Given the description of an element on the screen output the (x, y) to click on. 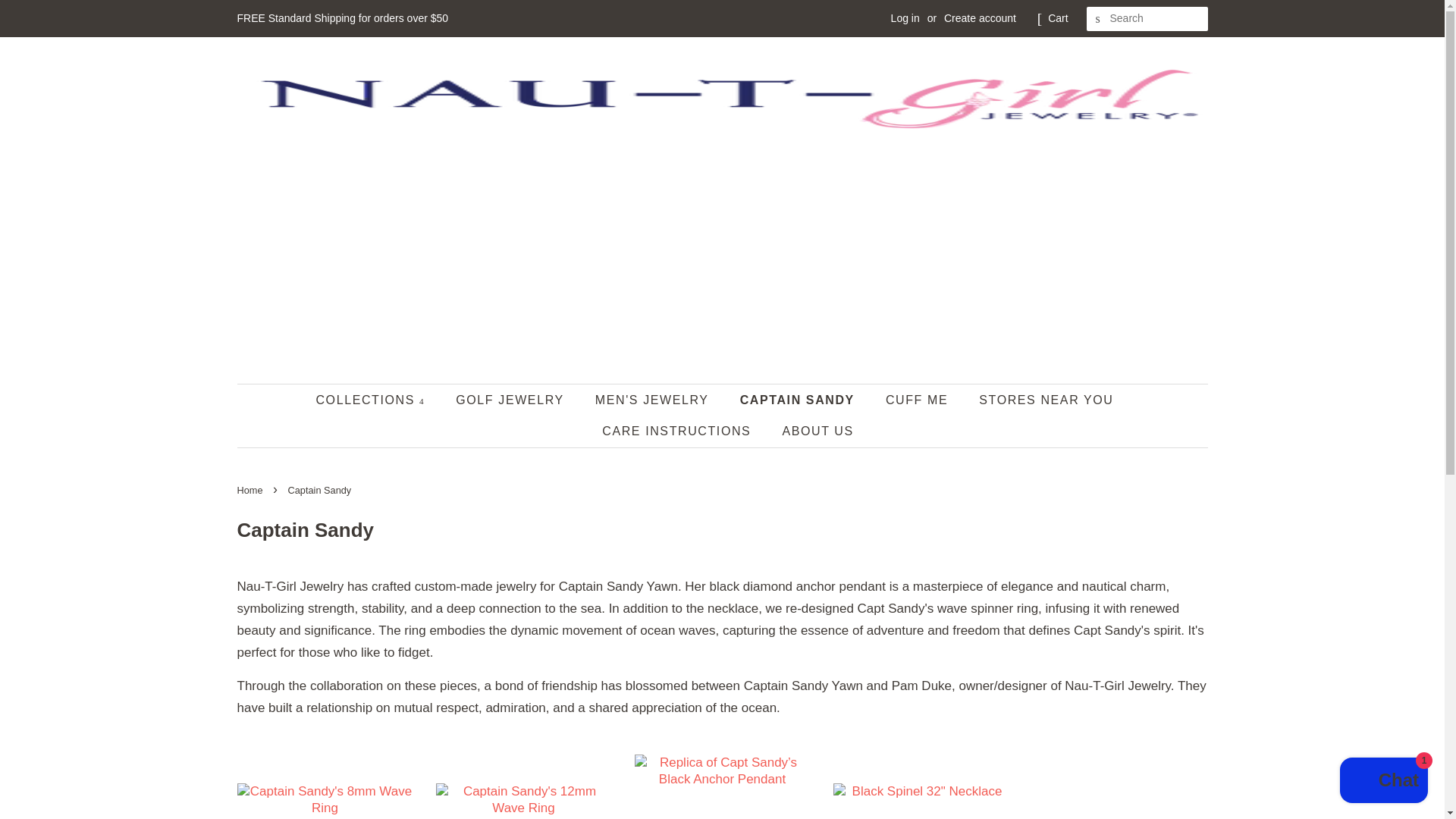
COLLECTIONS (377, 399)
Create account (979, 18)
Log in (905, 18)
Cart (1057, 18)
SEARCH (1097, 18)
Shopify online store chat (1383, 781)
Back to the frontpage (250, 490)
